Given the description of an element on the screen output the (x, y) to click on. 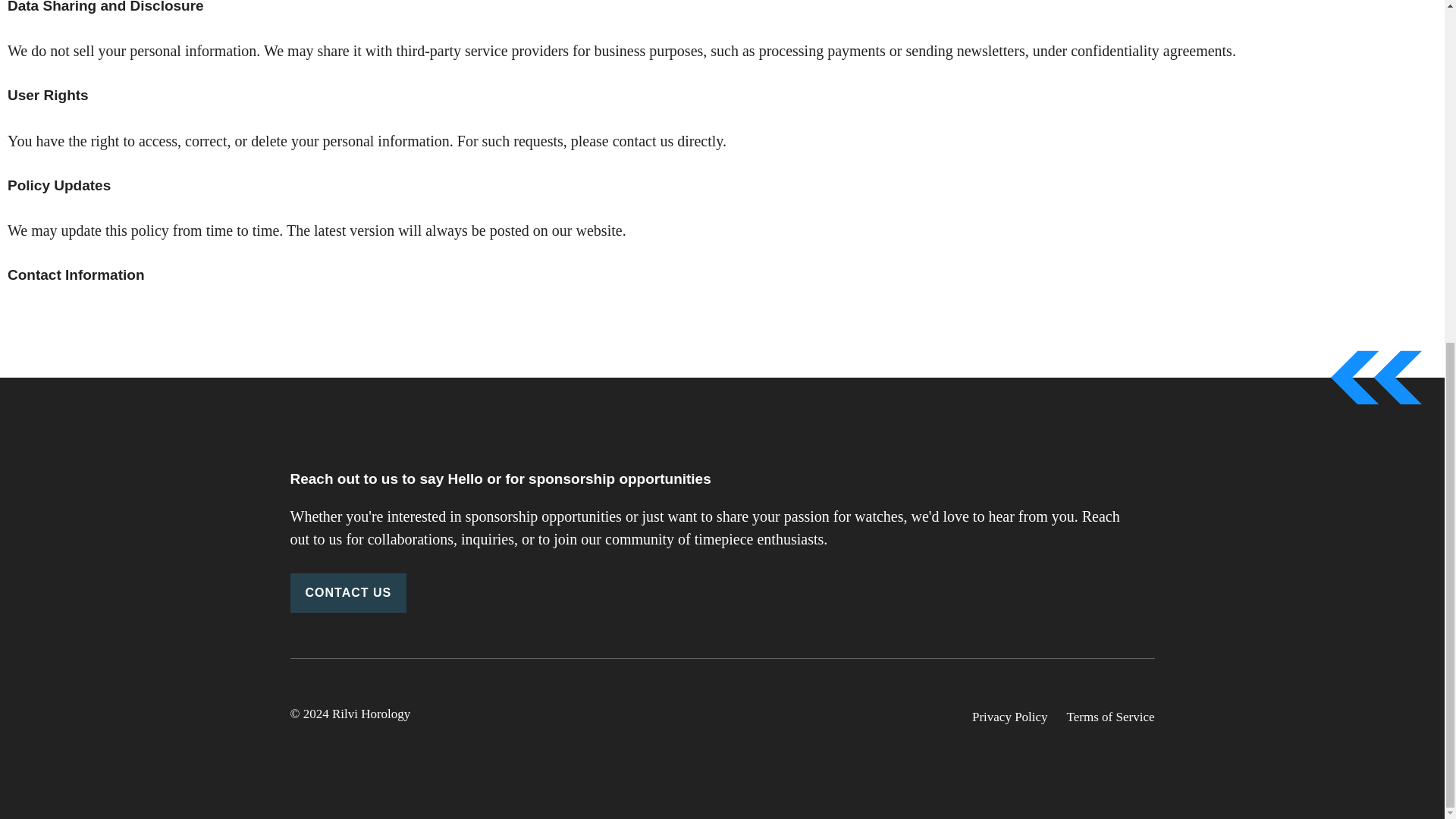
CONTACT US (347, 592)
Terms of Service (1110, 717)
Privacy Policy (1010, 717)
